Given the description of an element on the screen output the (x, y) to click on. 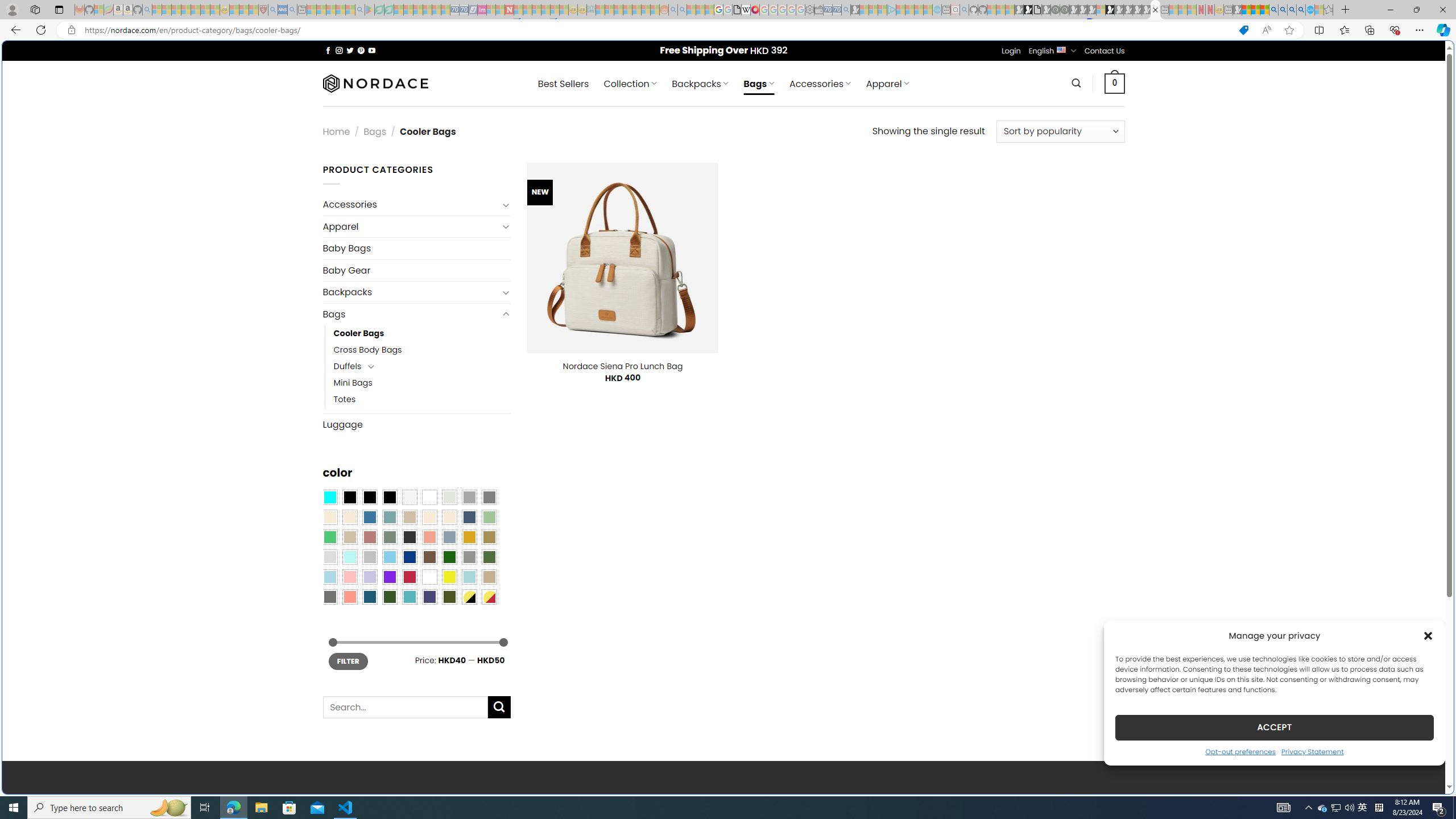
Shop order (1060, 131)
Follow on YouTube (371, 49)
Totes (344, 398)
Light Blue (329, 577)
Sign in to your account - Sleeping (1100, 9)
Army Green (449, 596)
Follow on Instagram (338, 49)
